Given the description of an element on the screen output the (x, y) to click on. 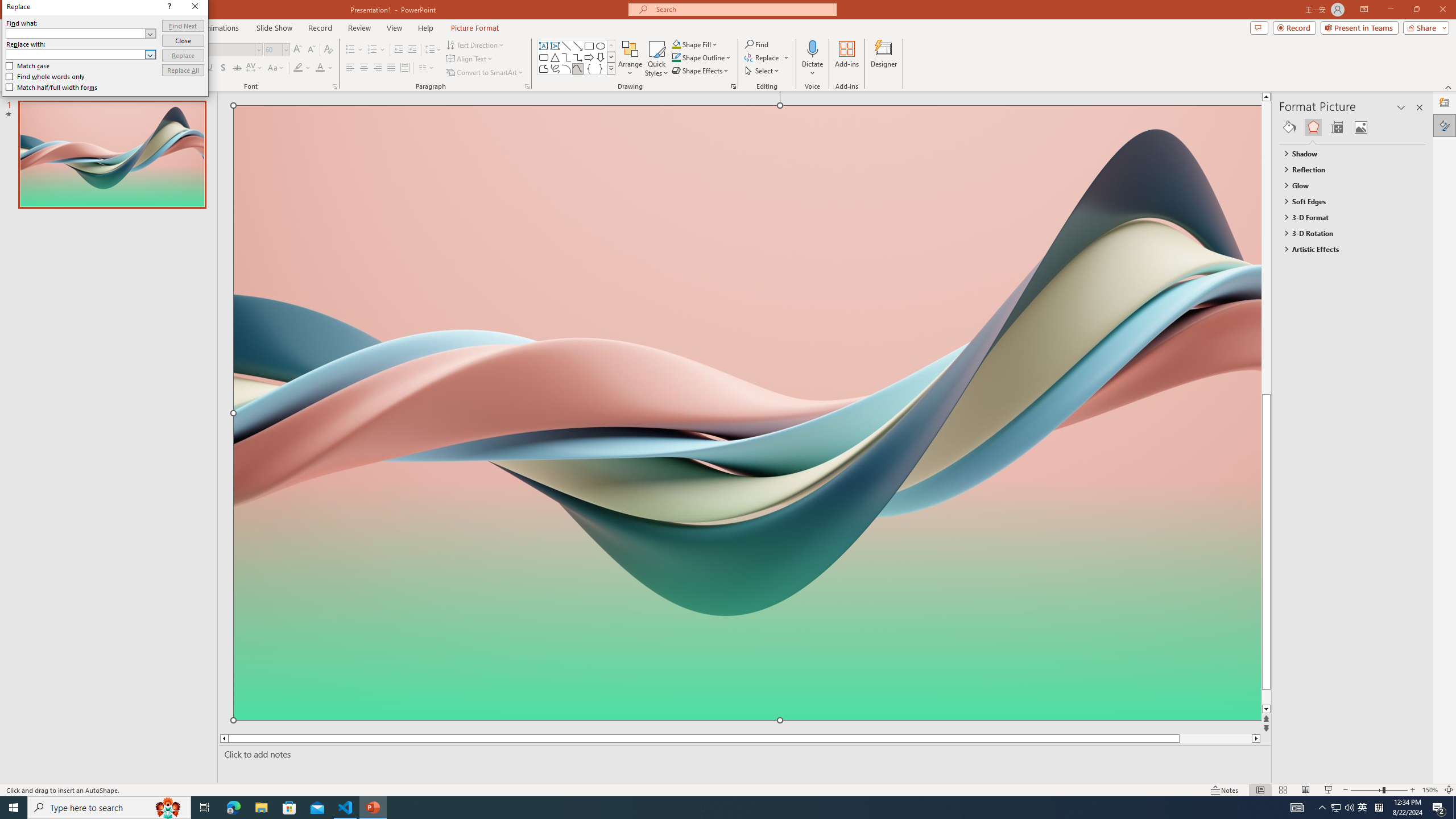
Clear Formatting (327, 49)
Distributed (404, 67)
Fill & Line (1288, 126)
Decrease Font Size (310, 49)
